Given the description of an element on the screen output the (x, y) to click on. 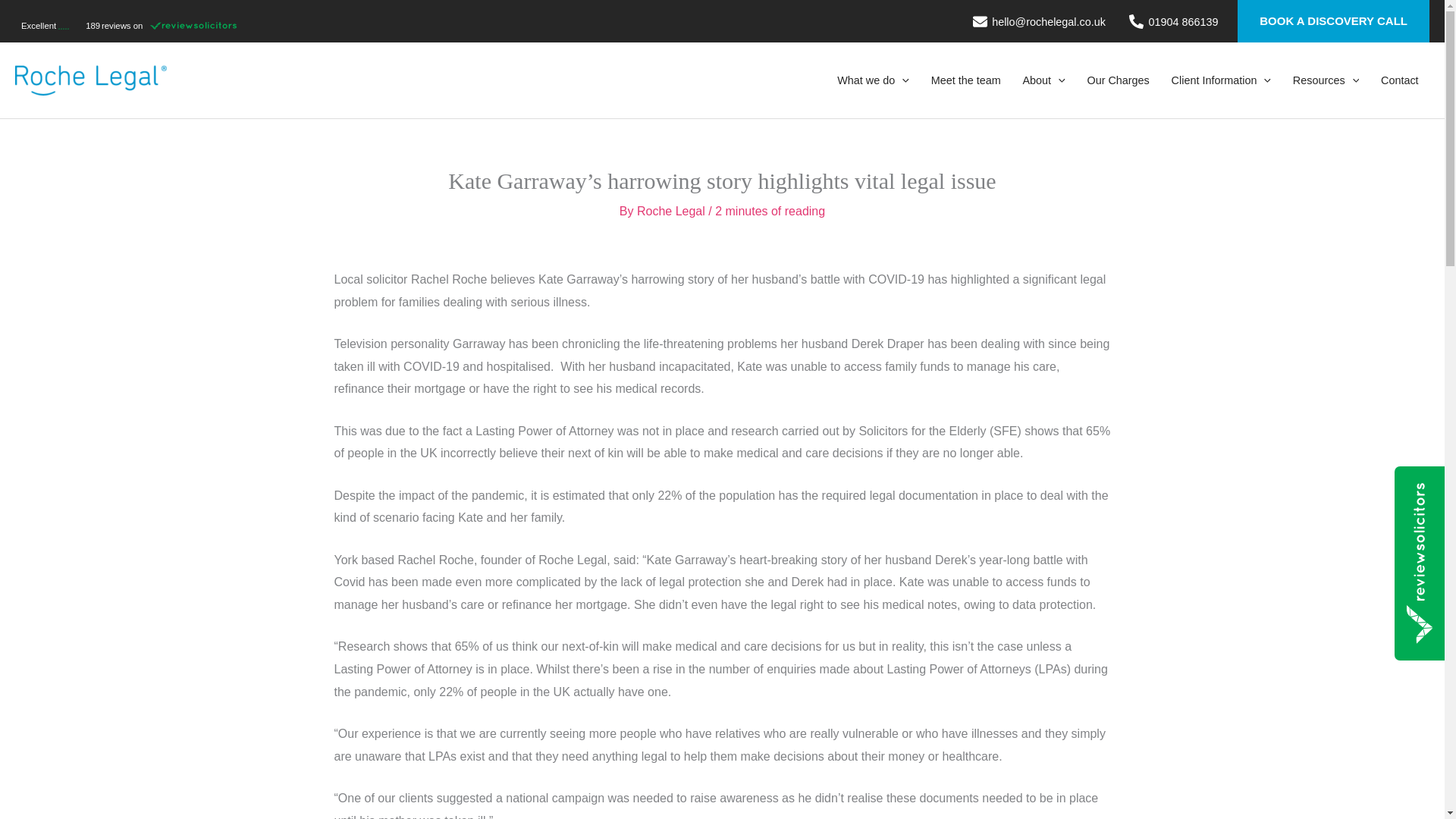
What we do (873, 80)
View all posts by Roche Legal (672, 210)
Resources (1325, 80)
01904 866139 (1174, 21)
Meet the team (965, 80)
Our Charges (1117, 80)
ReviewSolicitors (128, 23)
BOOK A DISCOVERY CALL (1333, 21)
About (1043, 80)
Client Information (1220, 80)
